Given the description of an element on the screen output the (x, y) to click on. 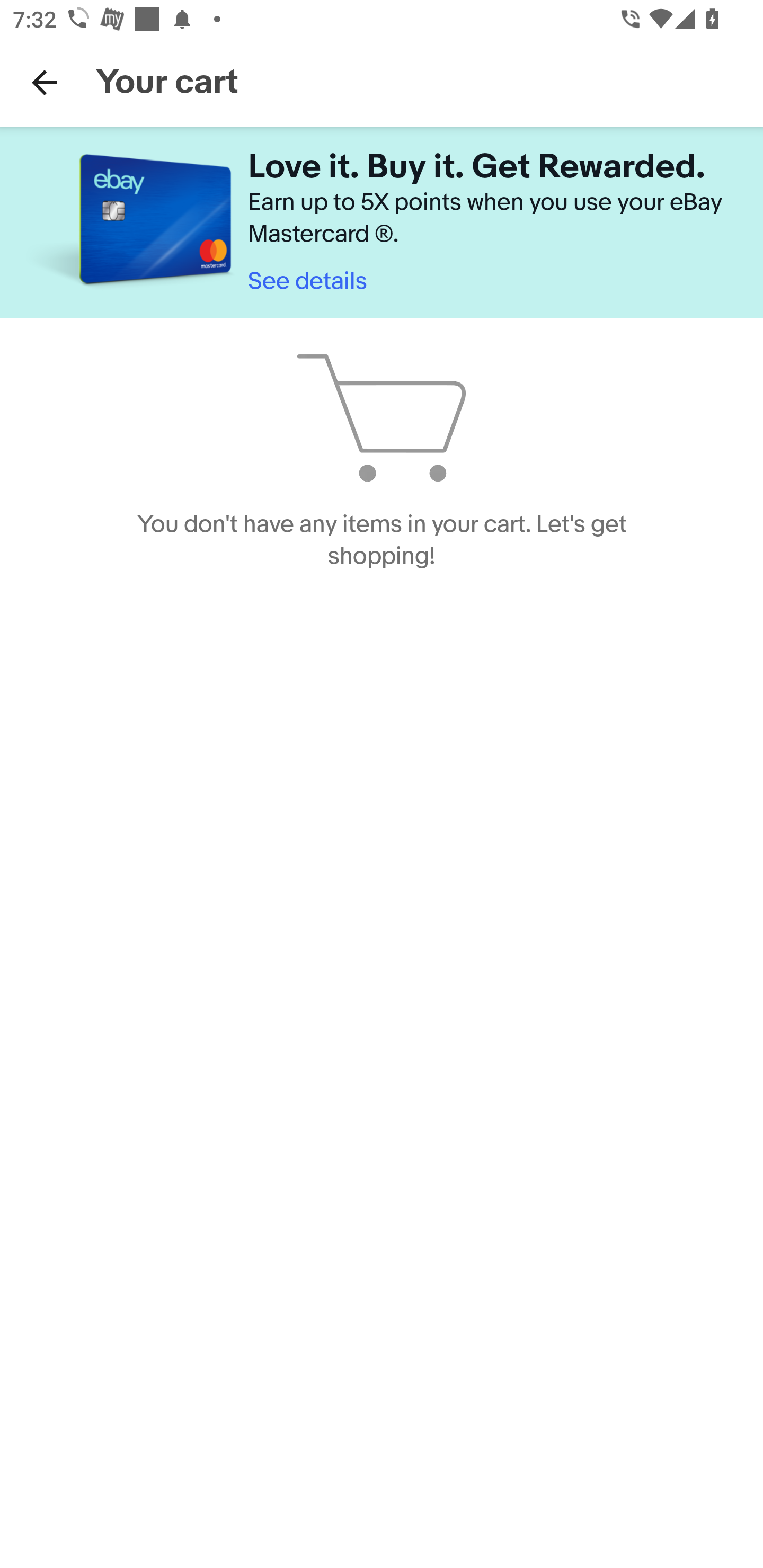
Navigate up (44, 82)
